Given the description of an element on the screen output the (x, y) to click on. 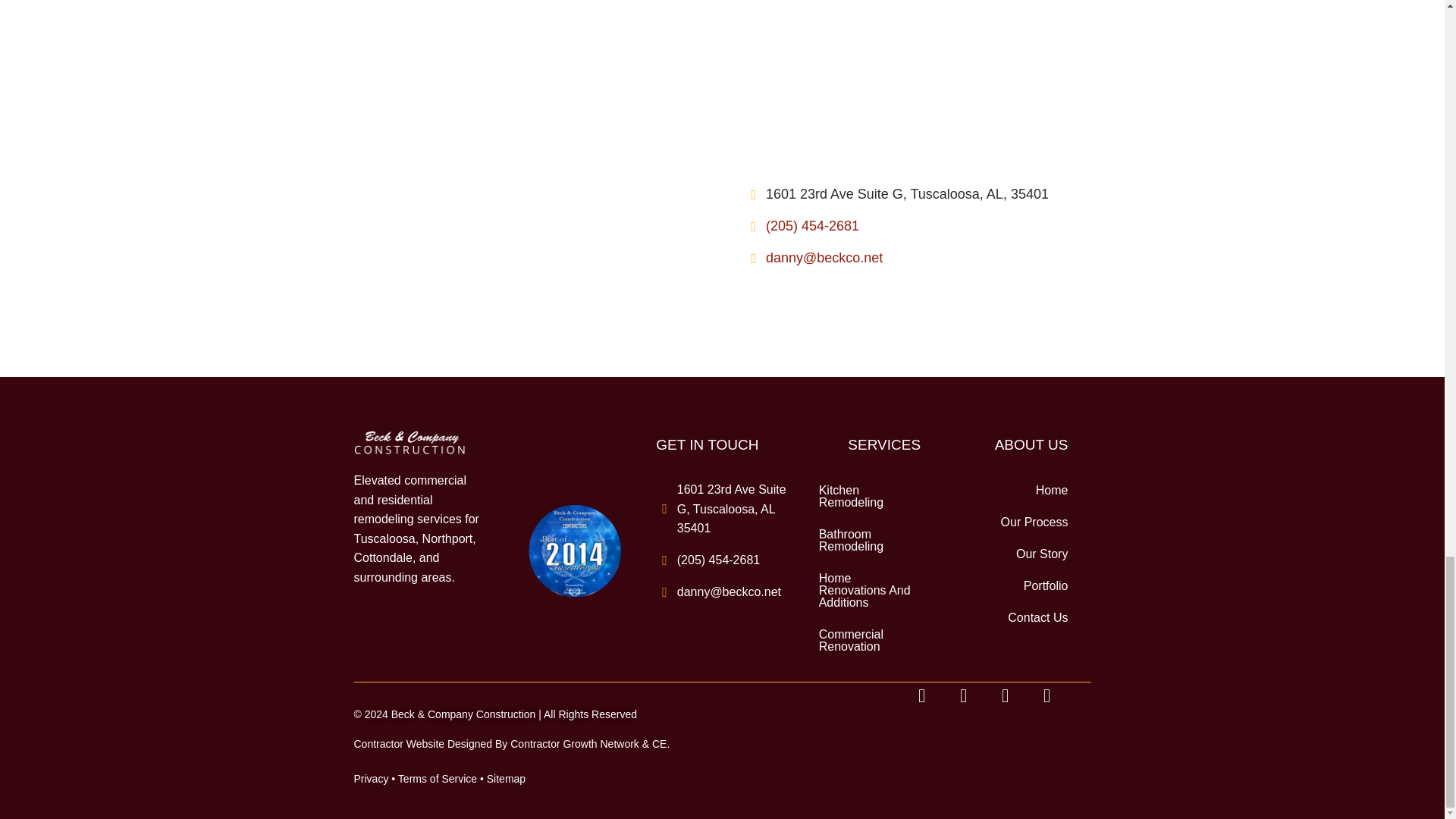
Our Process (1016, 522)
owner-profile (801, 105)
Kitchen Remodeling (869, 496)
Home Renovations And Additions (869, 590)
Home (1016, 490)
Bathroom Remodeling (869, 540)
Commercial Renovation (869, 640)
